Given the description of an element on the screen output the (x, y) to click on. 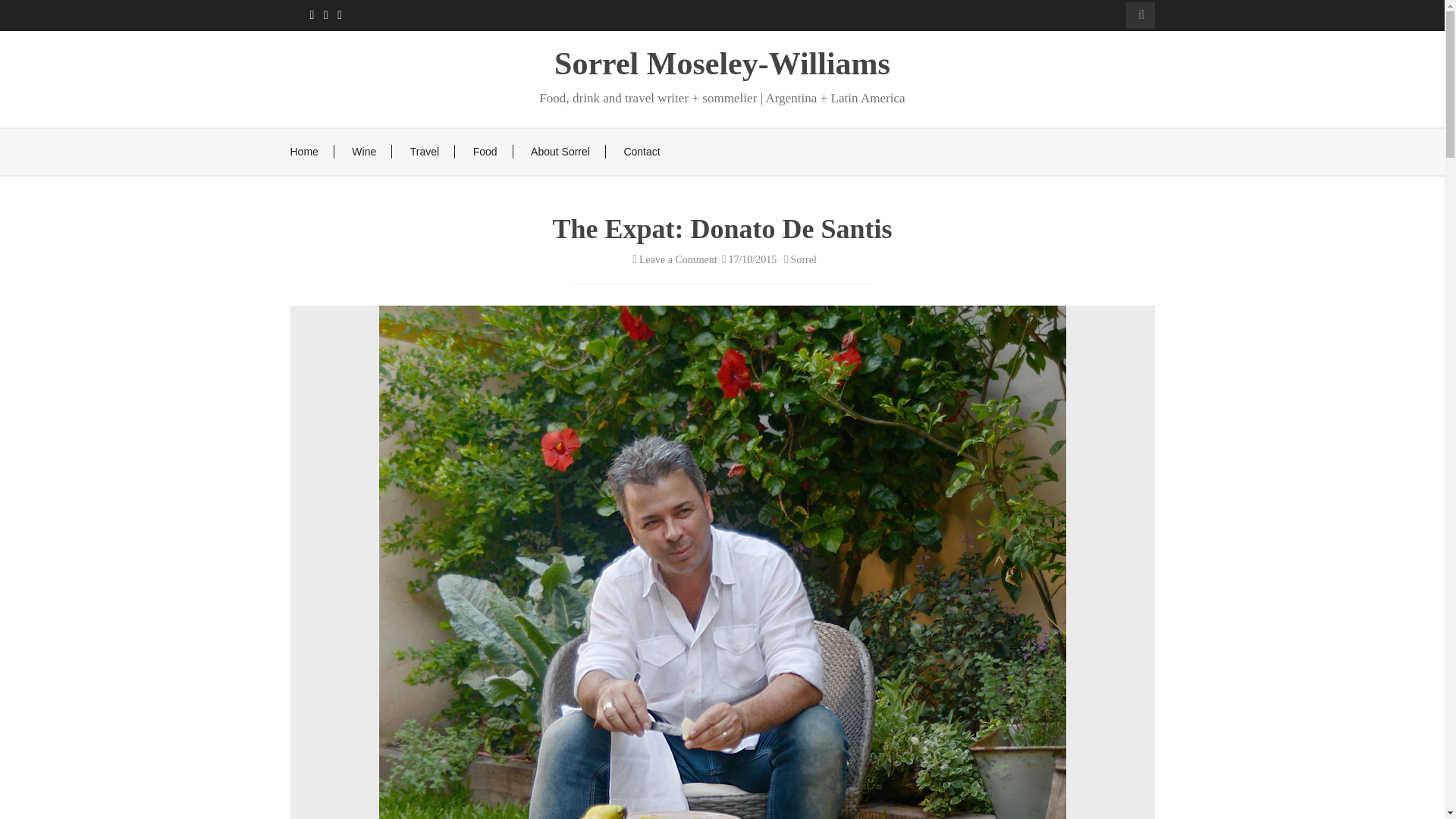
Sorrel (797, 259)
Leave a Comment (671, 259)
Instagram (338, 15)
Twitter (324, 15)
Wine (363, 151)
Contact (641, 151)
About Sorrel (560, 151)
Travel (424, 151)
Food (485, 151)
Sorrel Moseley-Williams (721, 63)
Facebook (309, 15)
Home (303, 151)
